Given the description of an element on the screen output the (x, y) to click on. 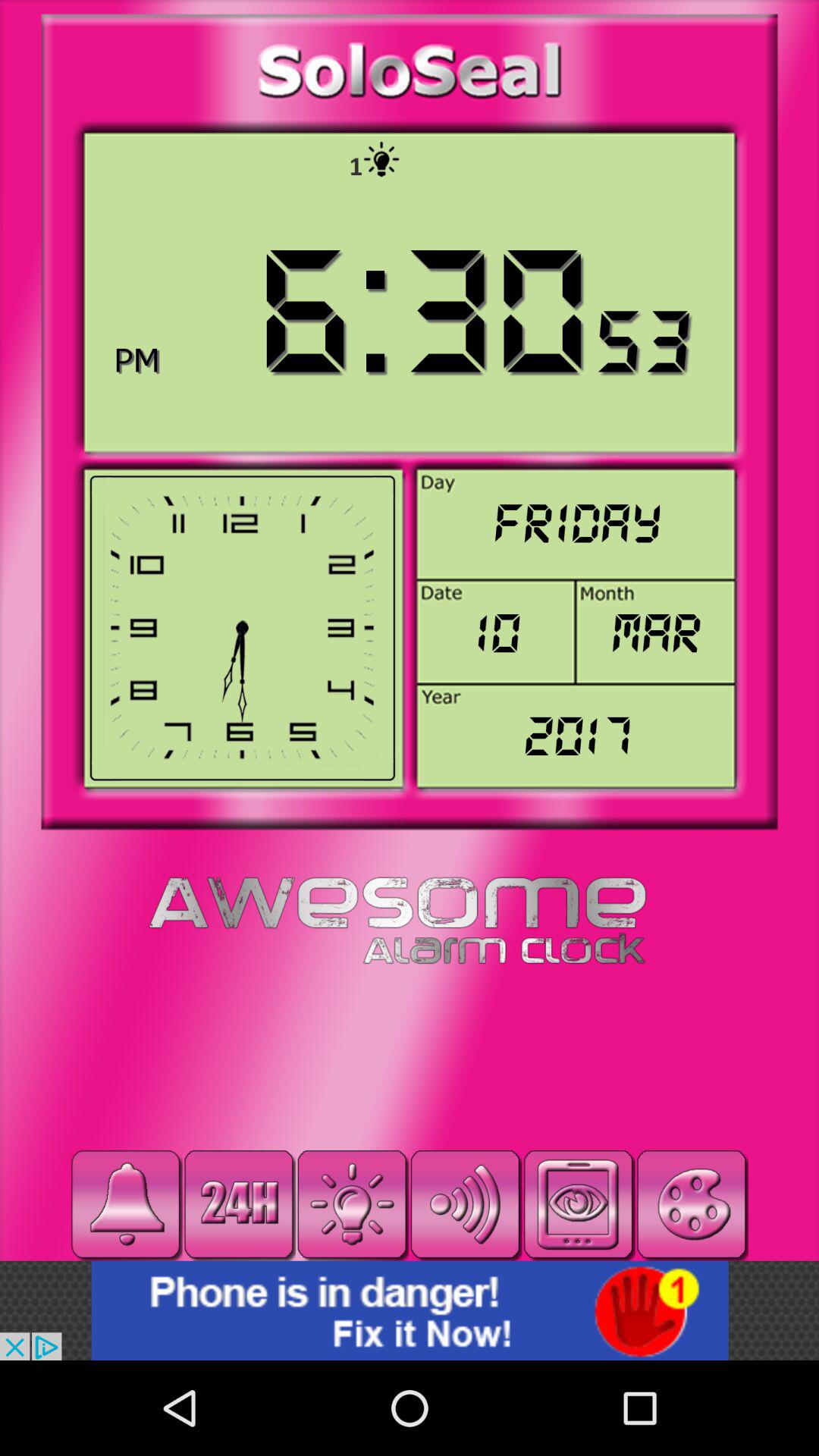
click notification button (125, 1203)
